Given the description of an element on the screen output the (x, y) to click on. 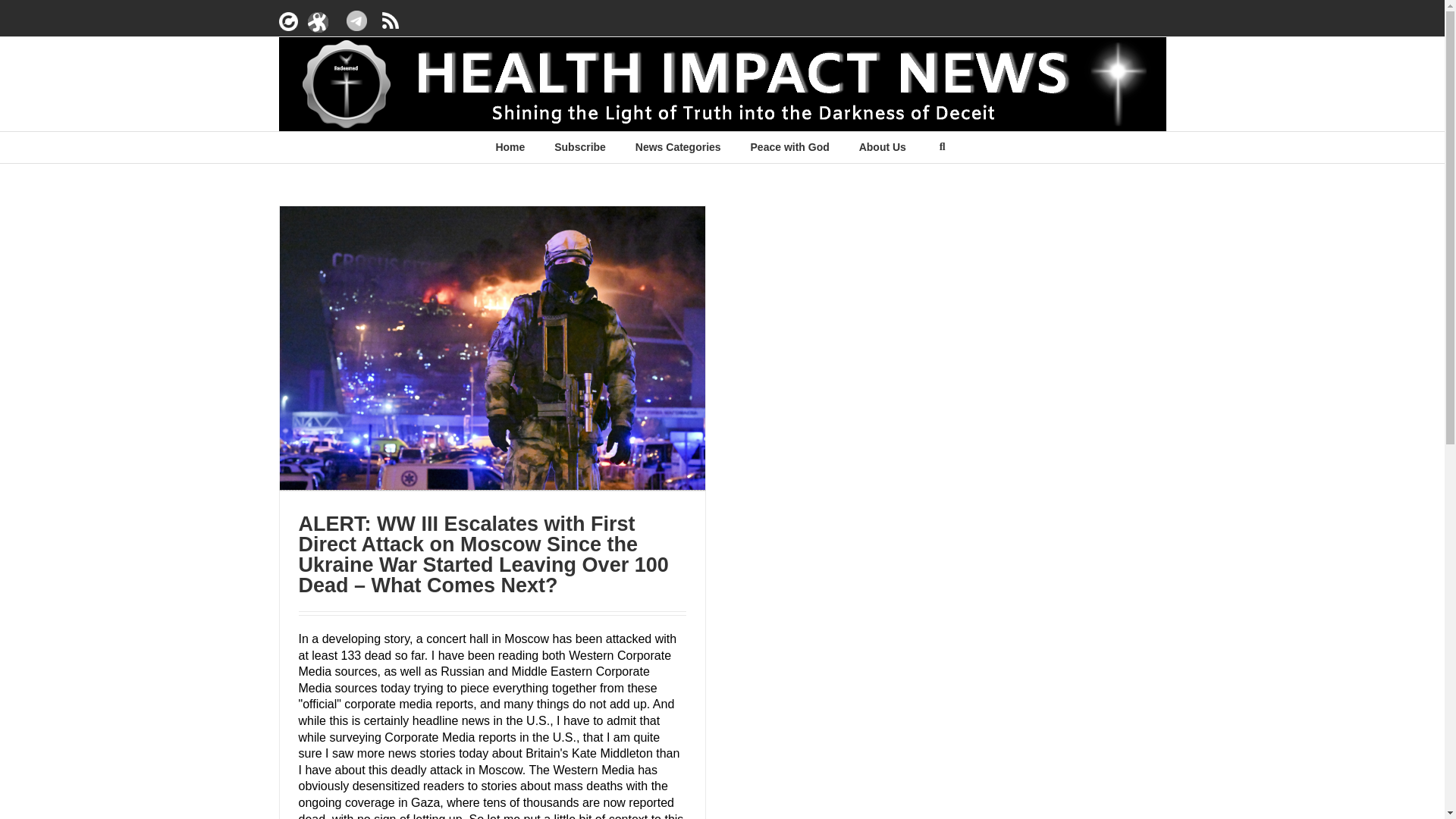
News Categories (677, 146)
About Us (882, 146)
Home (509, 146)
Subscribe (579, 146)
Peace with God (790, 146)
